Given the description of an element on the screen output the (x, y) to click on. 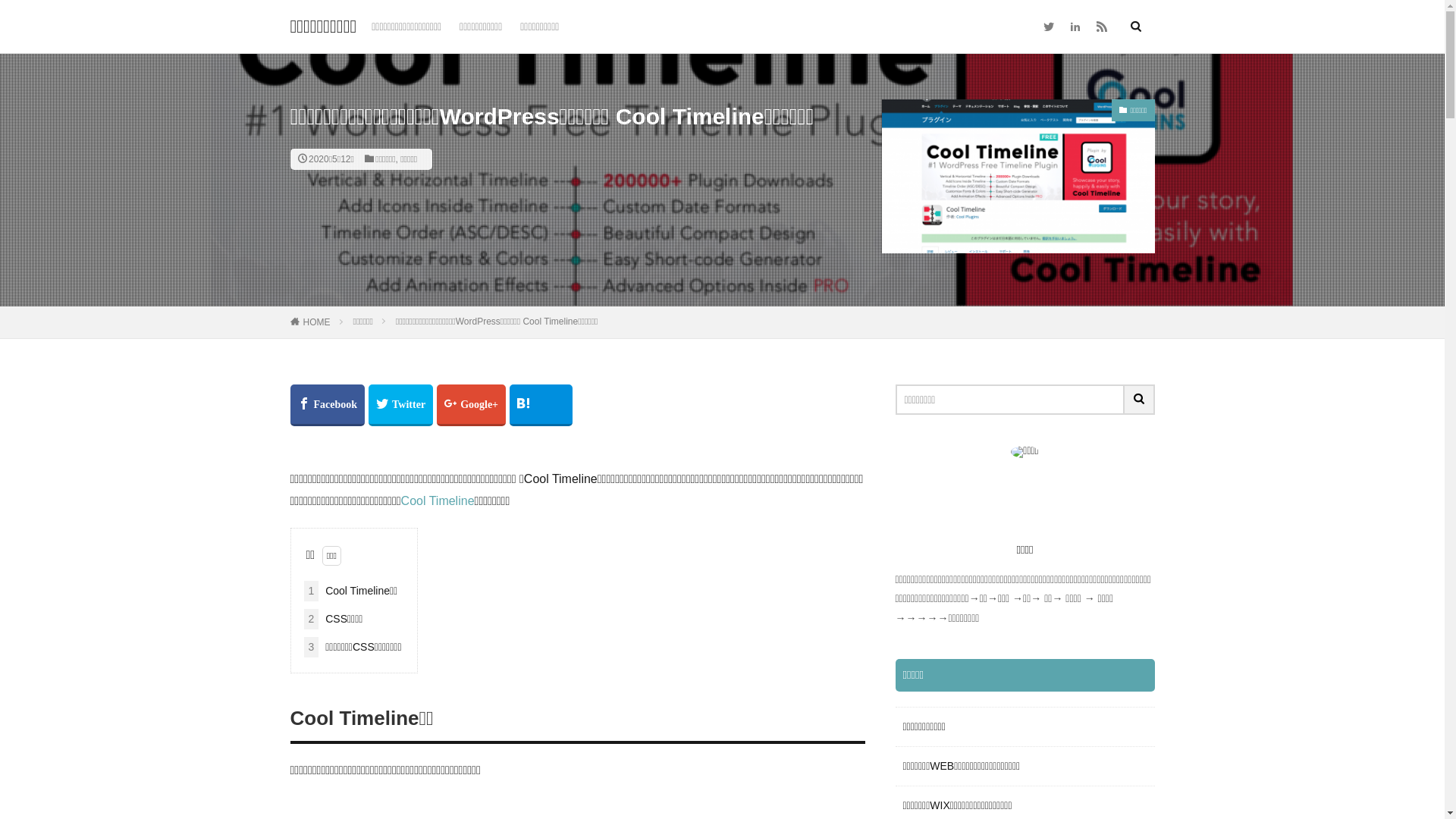
Facebook Element type: hover (326, 404)
search Element type: text (1138, 398)
HOME Element type: text (316, 321)
Google+ Element type: hover (470, 404)
Cool Timeline Element type: text (437, 500)
Twitter Element type: hover (400, 404)
